Given the description of an element on the screen output the (x, y) to click on. 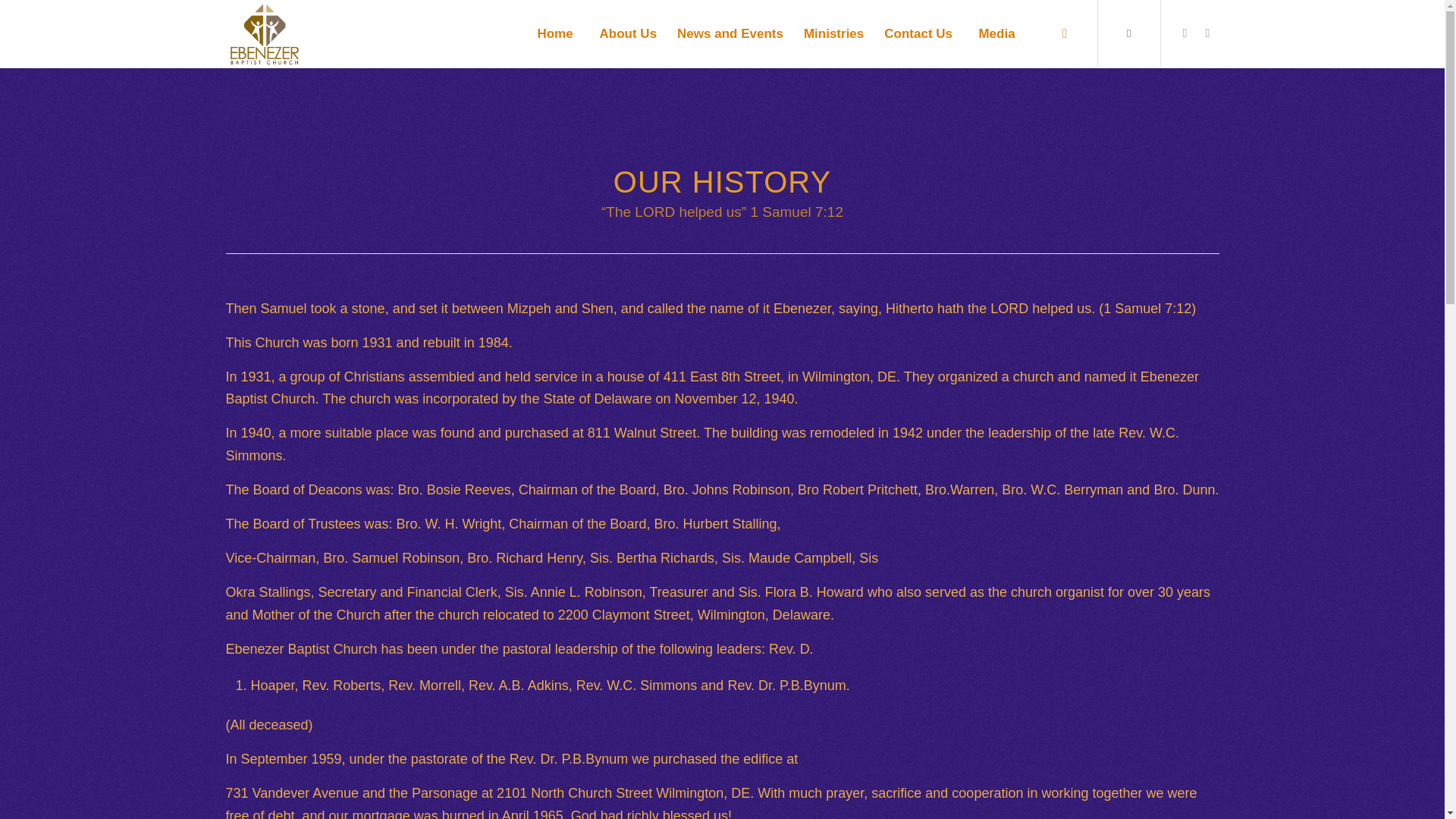
Twitter (1184, 33)
Facebook (1208, 33)
